Given the description of an element on the screen output the (x, y) to click on. 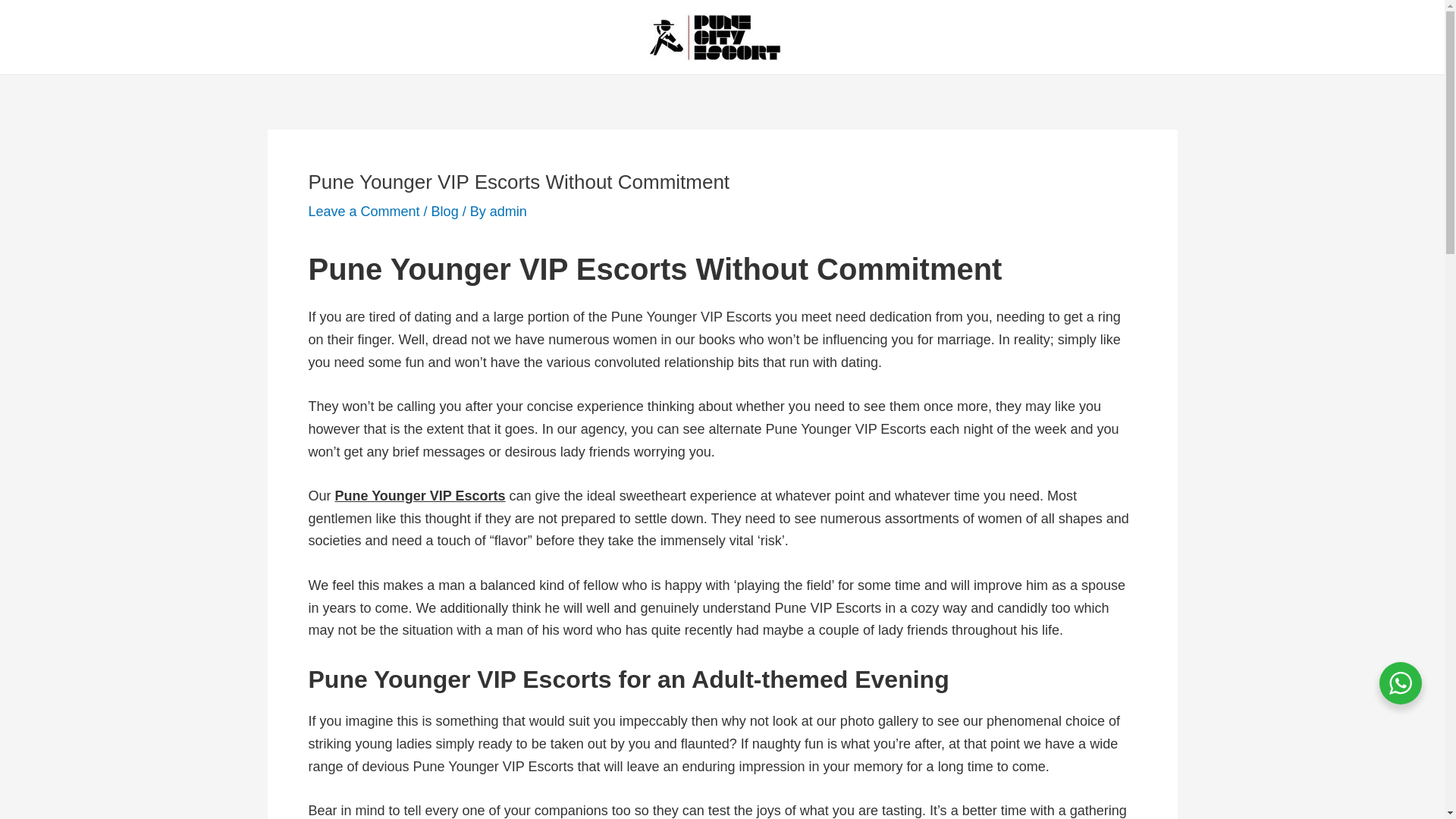
admin (508, 211)
View all posts by admin (508, 211)
Pune Younger VIP Escorts (419, 495)
Leave a Comment (363, 211)
Blog (444, 211)
